Given the description of an element on the screen output the (x, y) to click on. 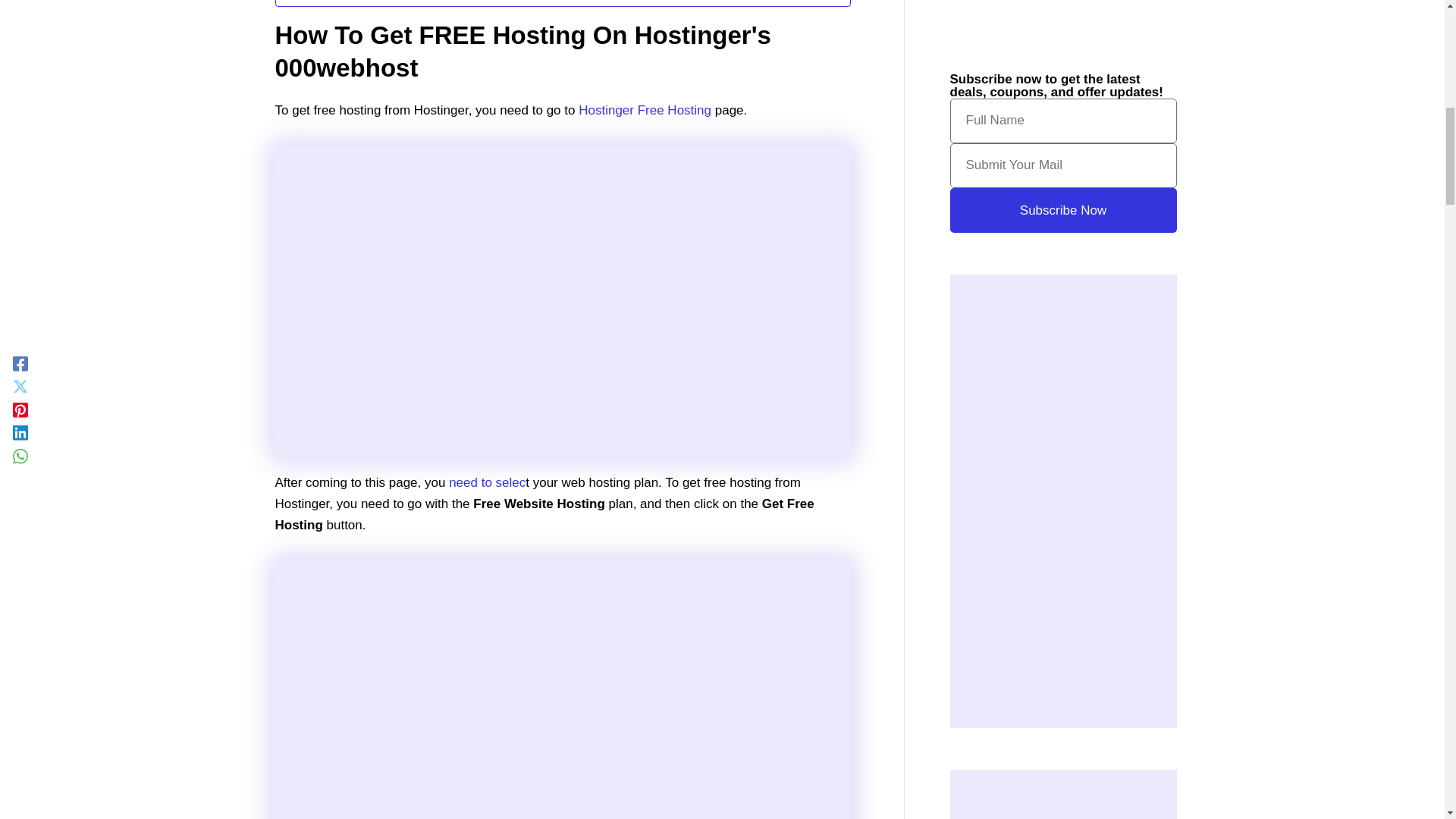
Hostinger Free Hosting (643, 110)
need to selec (486, 482)
